Given the description of an element on the screen output the (x, y) to click on. 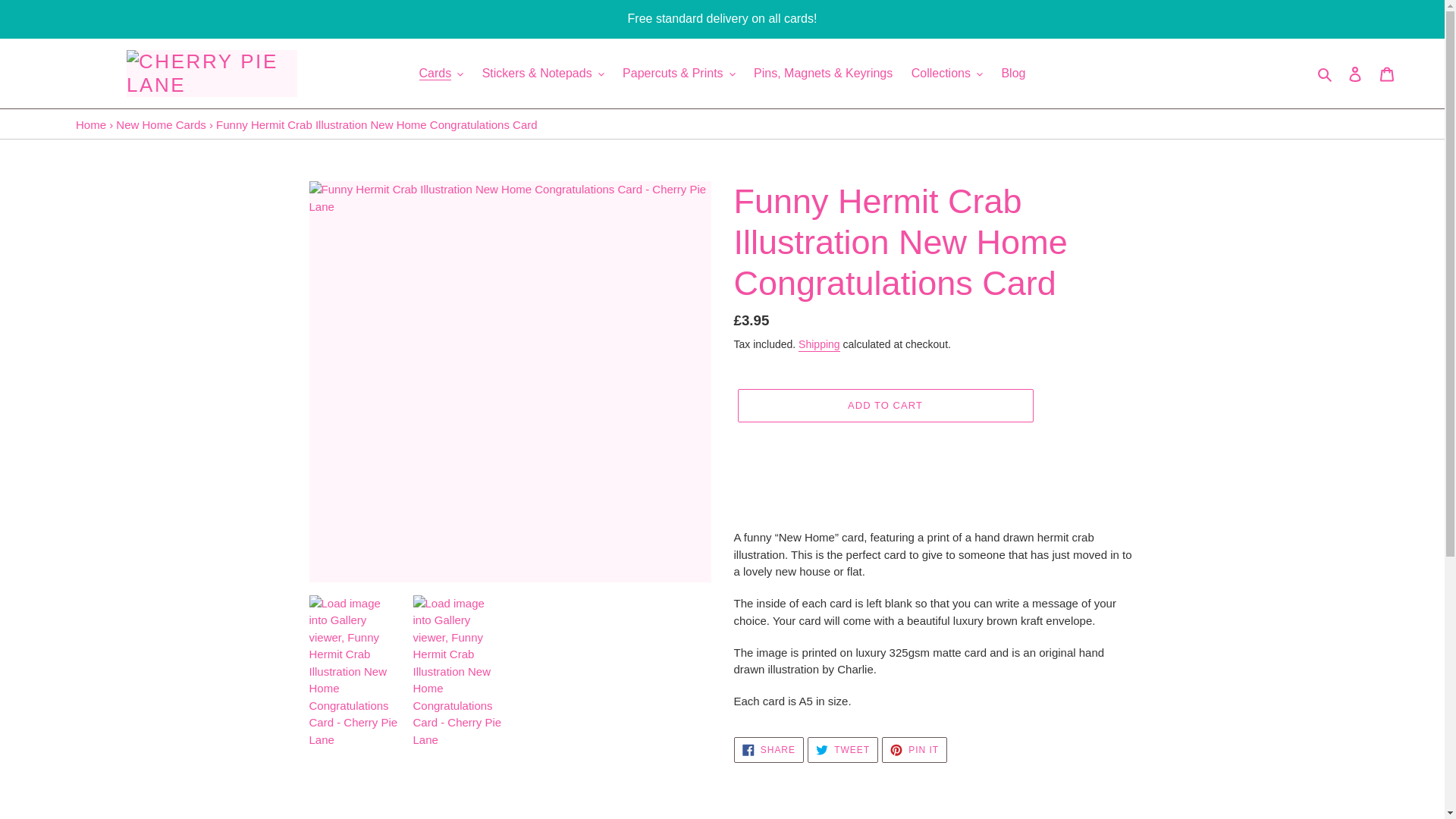
Home (90, 124)
Collections (947, 73)
Cards (441, 73)
